Given the description of an element on the screen output the (x, y) to click on. 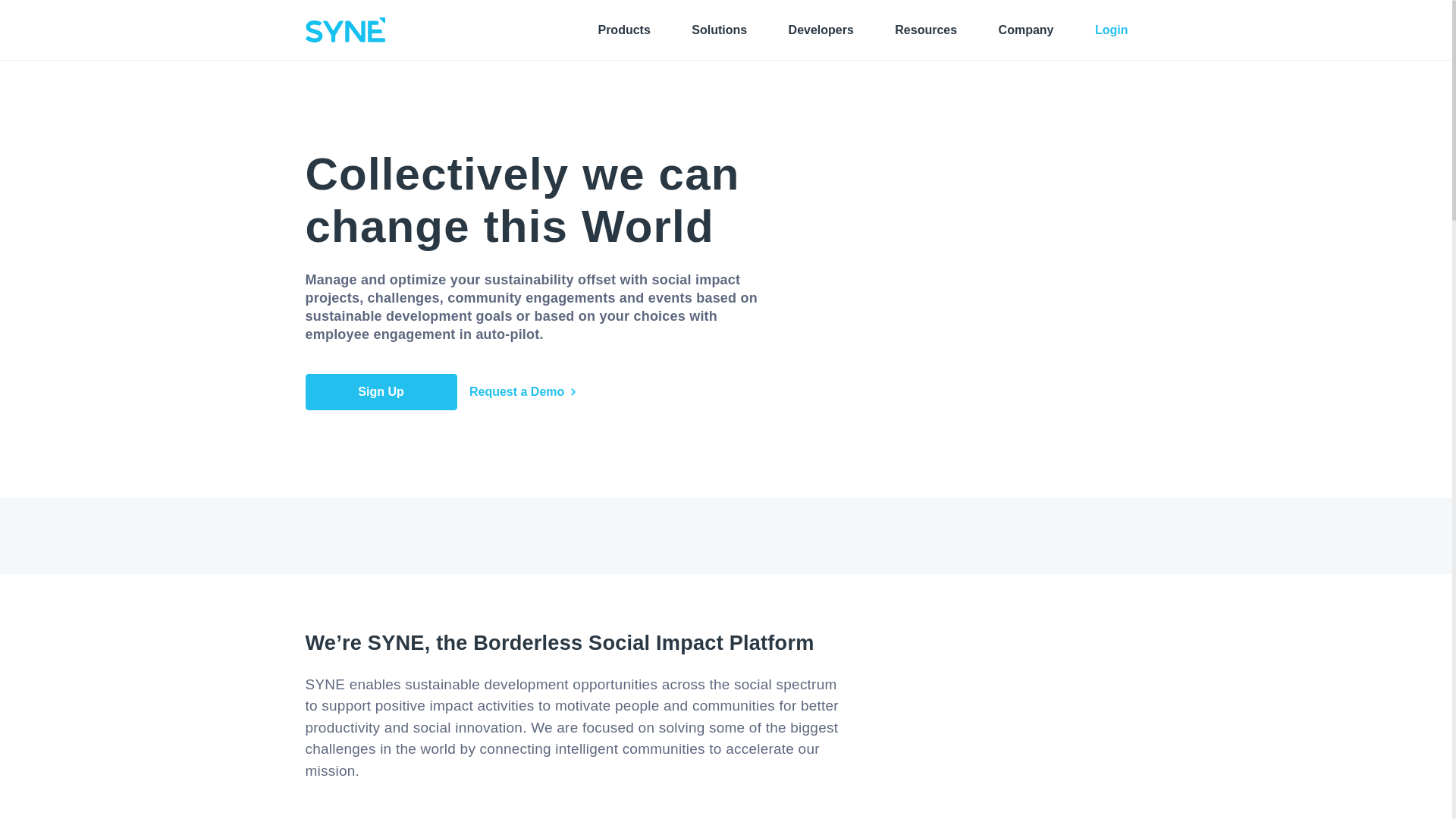
Products (622, 29)
Developers (821, 29)
Company (1026, 29)
Solutions (718, 29)
Resources (925, 29)
